Given the description of an element on the screen output the (x, y) to click on. 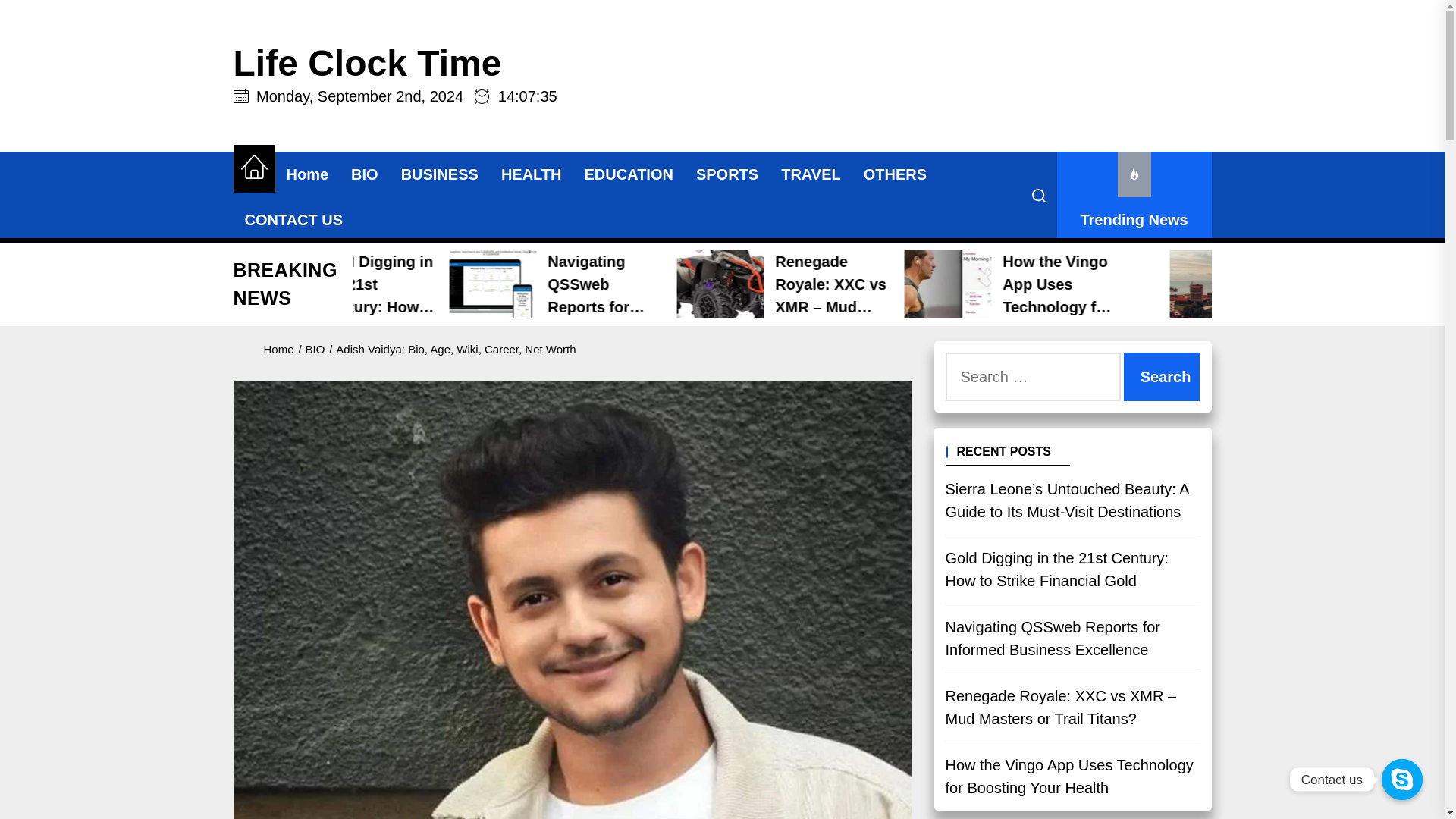
Life Clock Time (394, 63)
EDUCATION (628, 174)
Navigating QSSweb Reports for Informed Business Excellence (785, 284)
HEALTH (531, 174)
SPORTS (727, 174)
Home (307, 174)
TRAVEL (810, 174)
Search (1161, 376)
Search (1161, 376)
BUSINESS (439, 174)
